Given the description of an element on the screen output the (x, y) to click on. 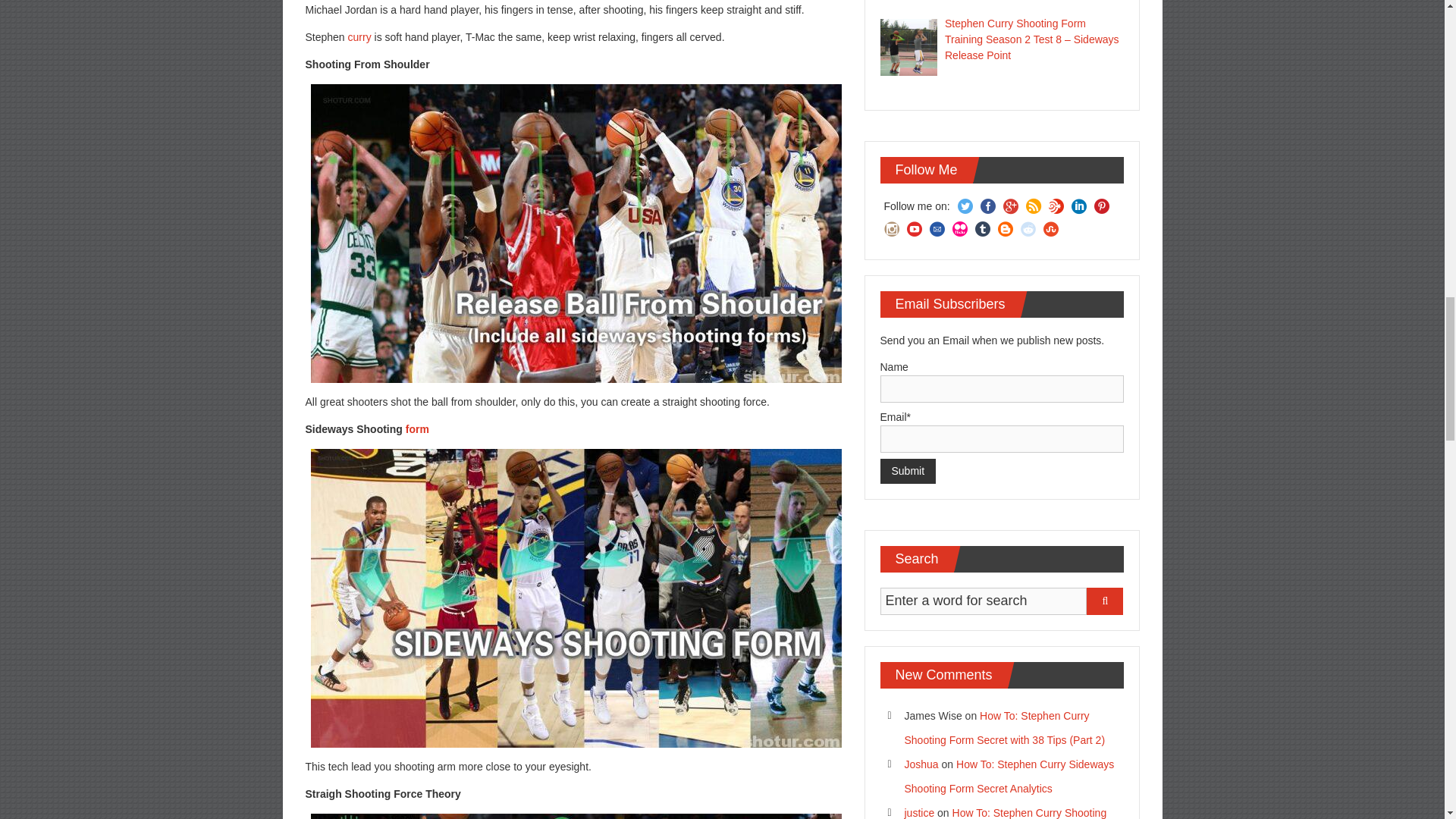
Posts tagged with curry (359, 37)
Submit (907, 471)
Posts tagged with form (417, 428)
